Given the description of an element on the screen output the (x, y) to click on. 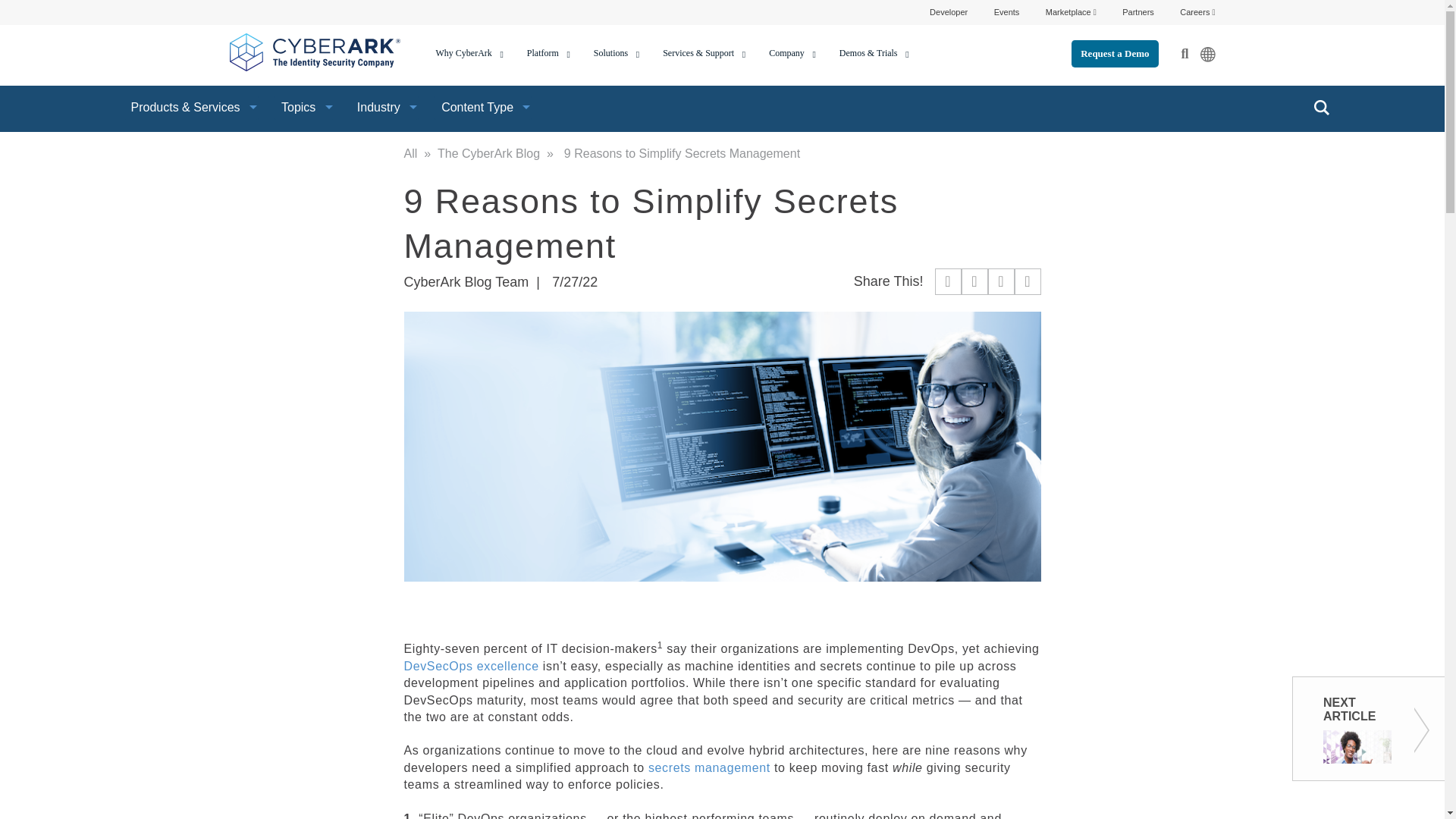
Marketplace (1070, 11)
Events (1007, 11)
Partners (1138, 11)
Careers (1196, 11)
Developer (949, 11)
